Given the description of an element on the screen output the (x, y) to click on. 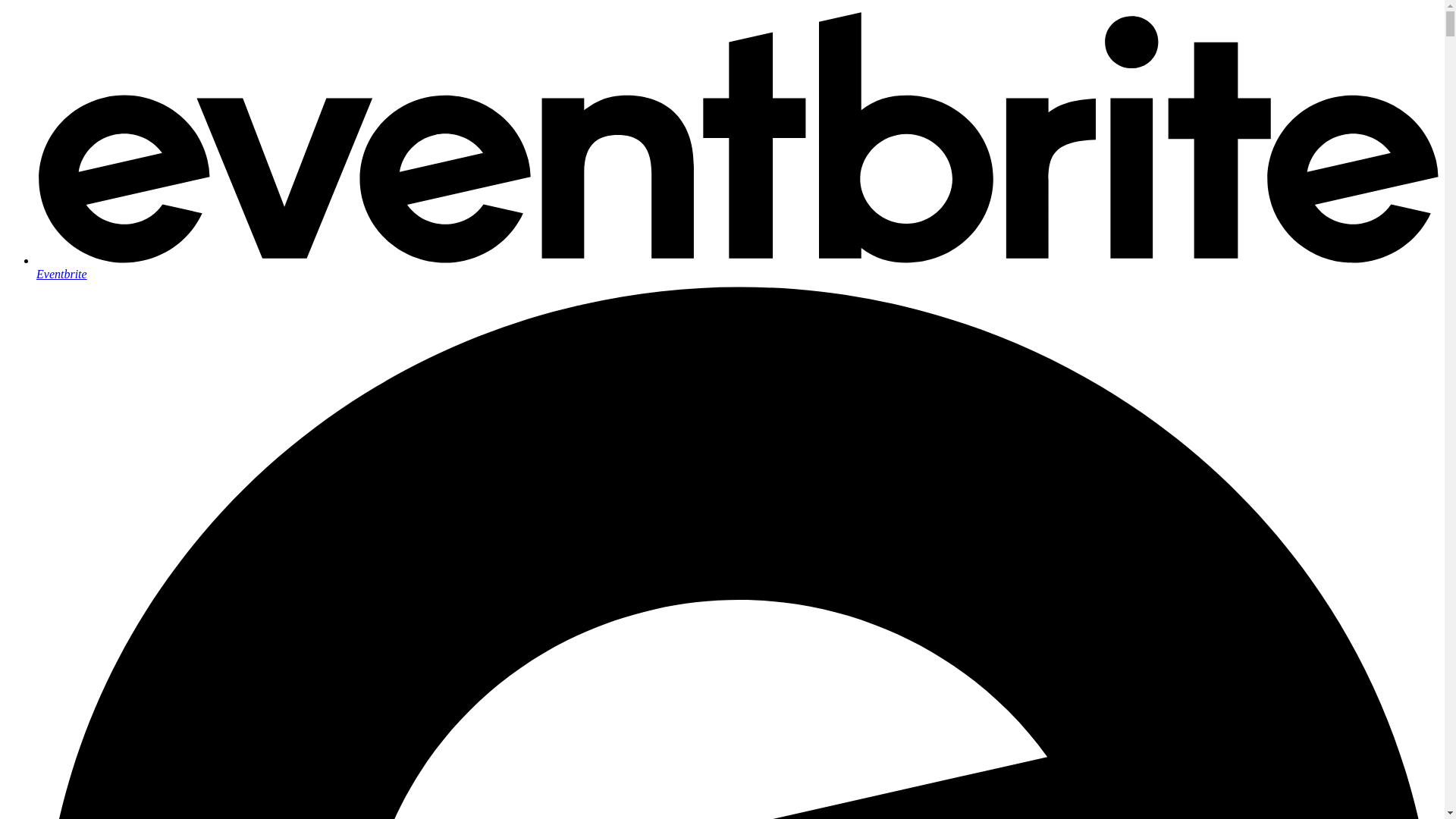
Eventbrite Element type: text (737, 267)
